Given the description of an element on the screen output the (x, y) to click on. 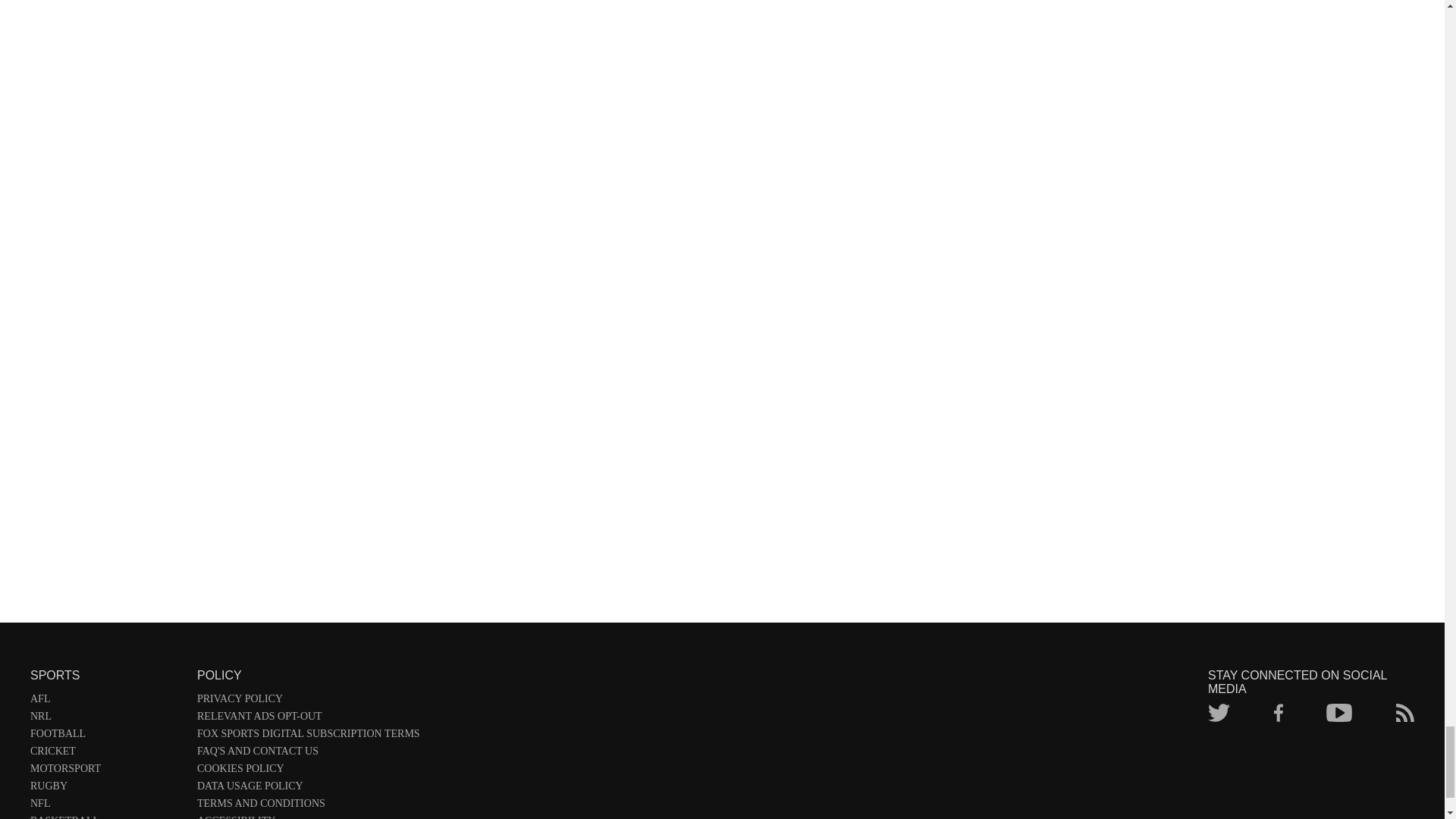
PRIVACY POLICY (308, 701)
CRICKET (106, 753)
ACCESSIBILITY (308, 816)
AFL (106, 701)
BASKETBALL (106, 816)
FOX SPORTS DIGITAL SUBSCRIPTION TERMS (308, 736)
FOOTBALL (106, 736)
NFL (106, 805)
DATA USAGE POLICY (308, 788)
RUGBY (106, 788)
